Given the description of an element on the screen output the (x, y) to click on. 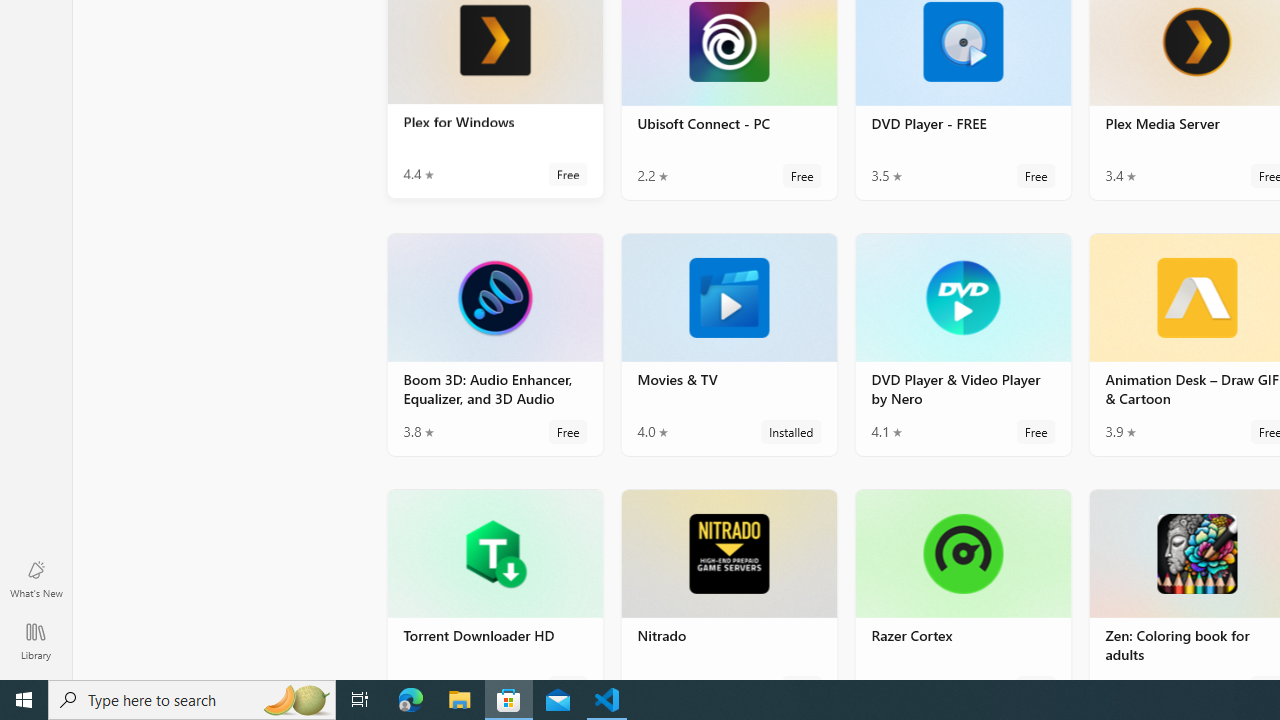
Screenshot 1 (494, 183)
Library (35, 640)
What's New (35, 578)
